Given the description of an element on the screen output the (x, y) to click on. 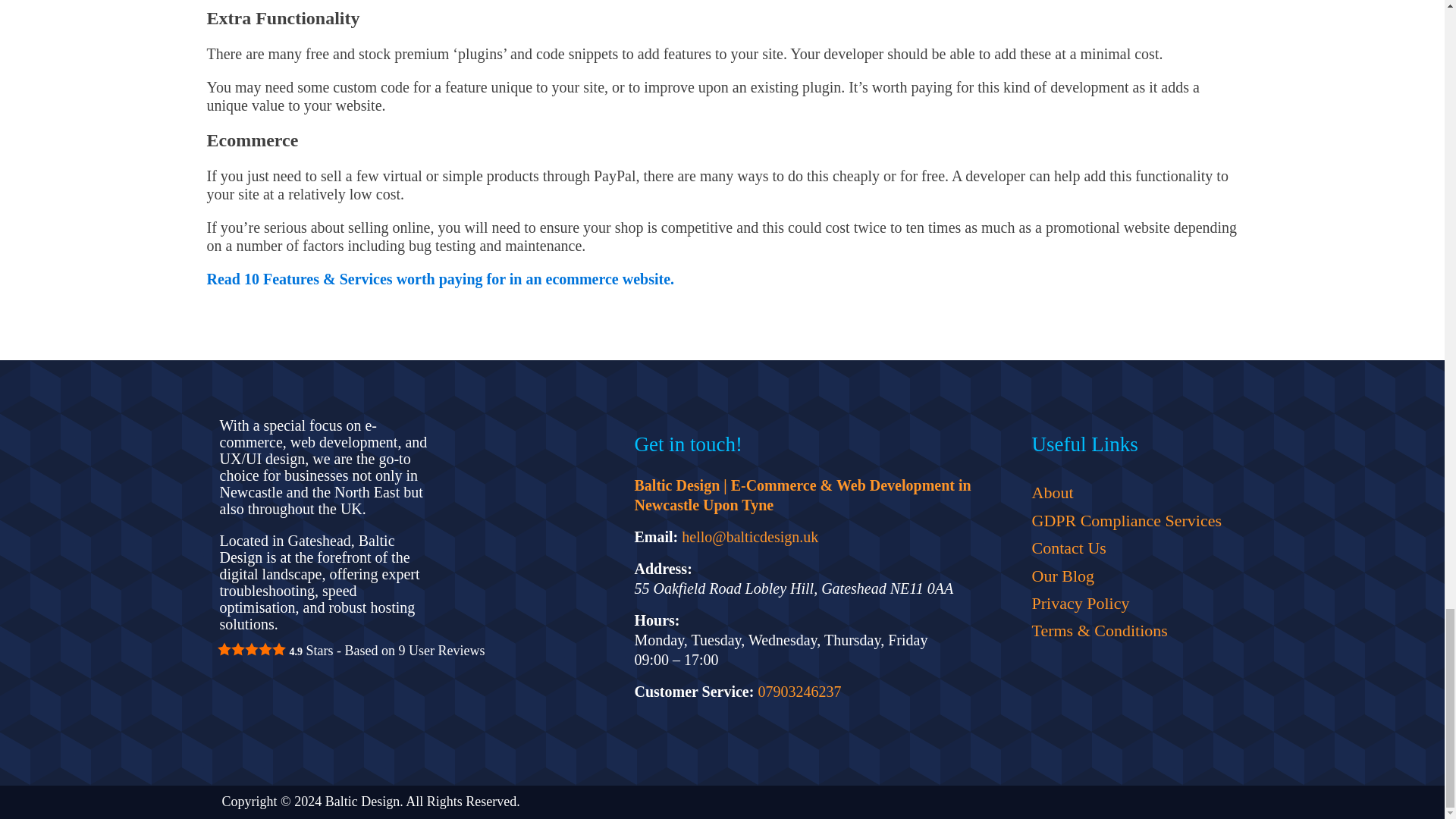
Our Blog (1125, 575)
About (1125, 492)
GDPR Compliance Services (1125, 520)
07903246237 (799, 691)
Privacy Policy (1125, 603)
Contact Us (1125, 547)
